Given the description of an element on the screen output the (x, y) to click on. 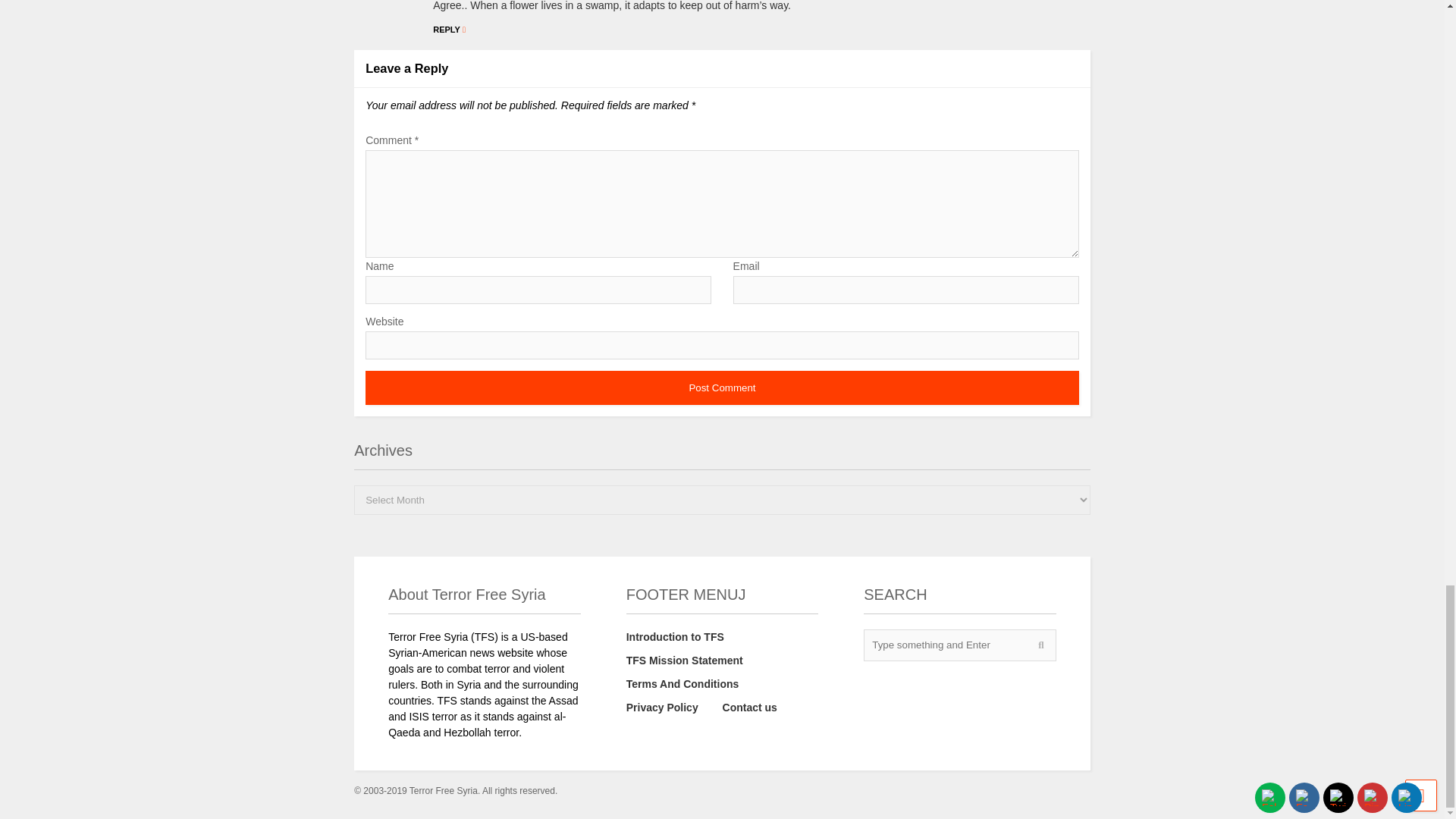
Post Comment (721, 387)
